Given the description of an element on the screen output the (x, y) to click on. 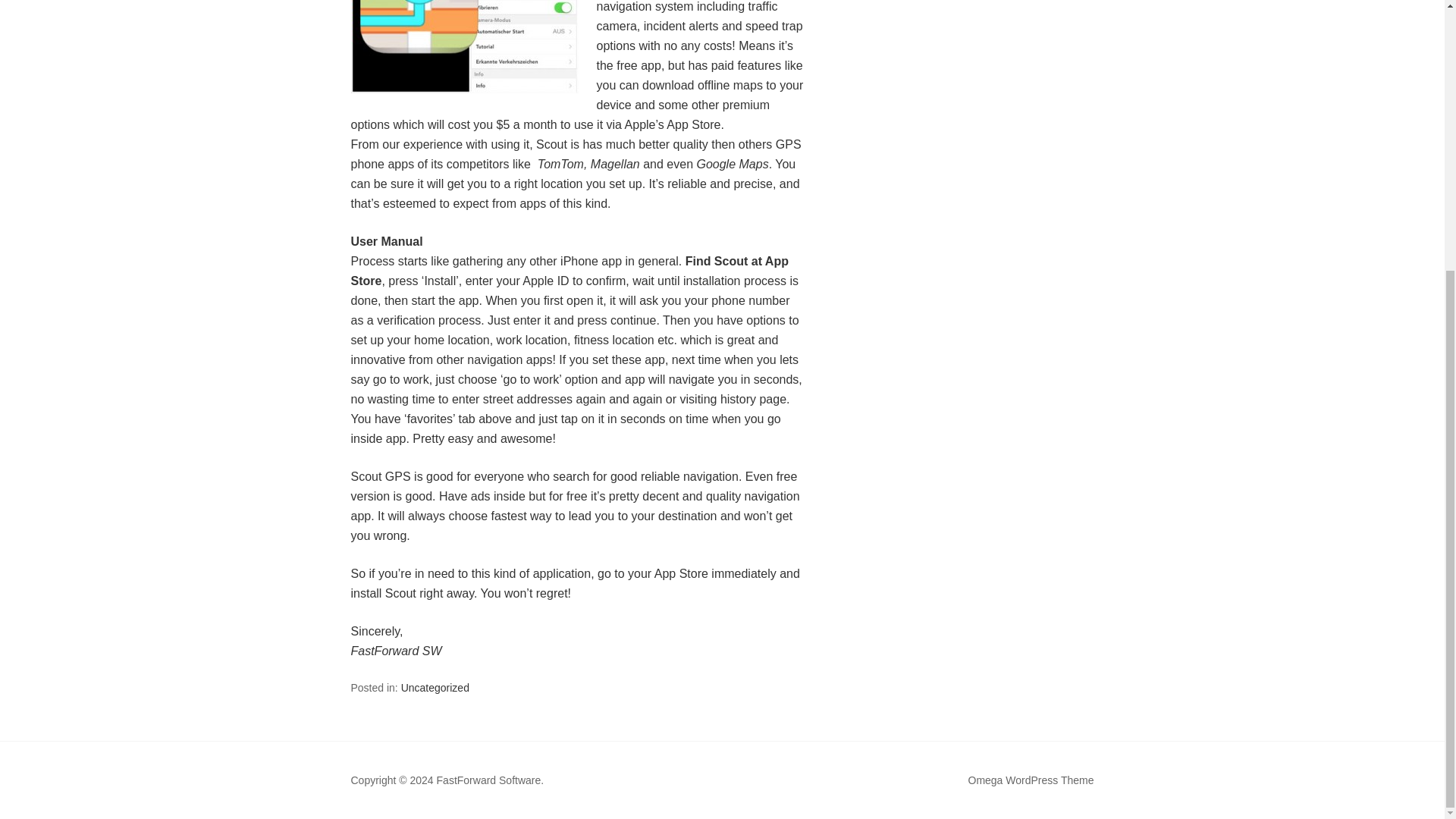
Uncategorized (434, 687)
